Given the description of an element on the screen output the (x, y) to click on. 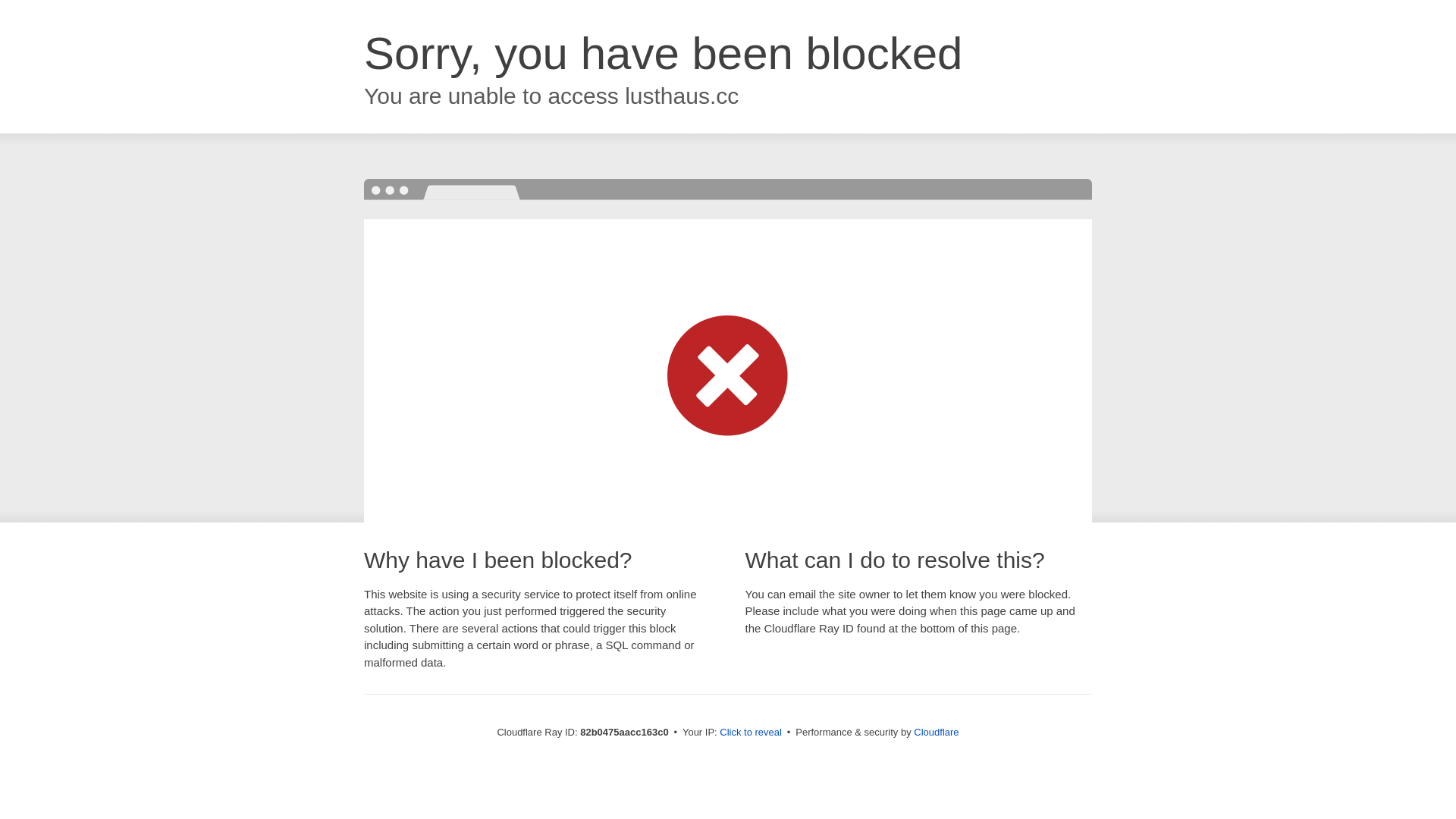
Click to reveal Element type: text (750, 732)
Cloudflare Element type: text (935, 731)
